Given the description of an element on the screen output the (x, y) to click on. 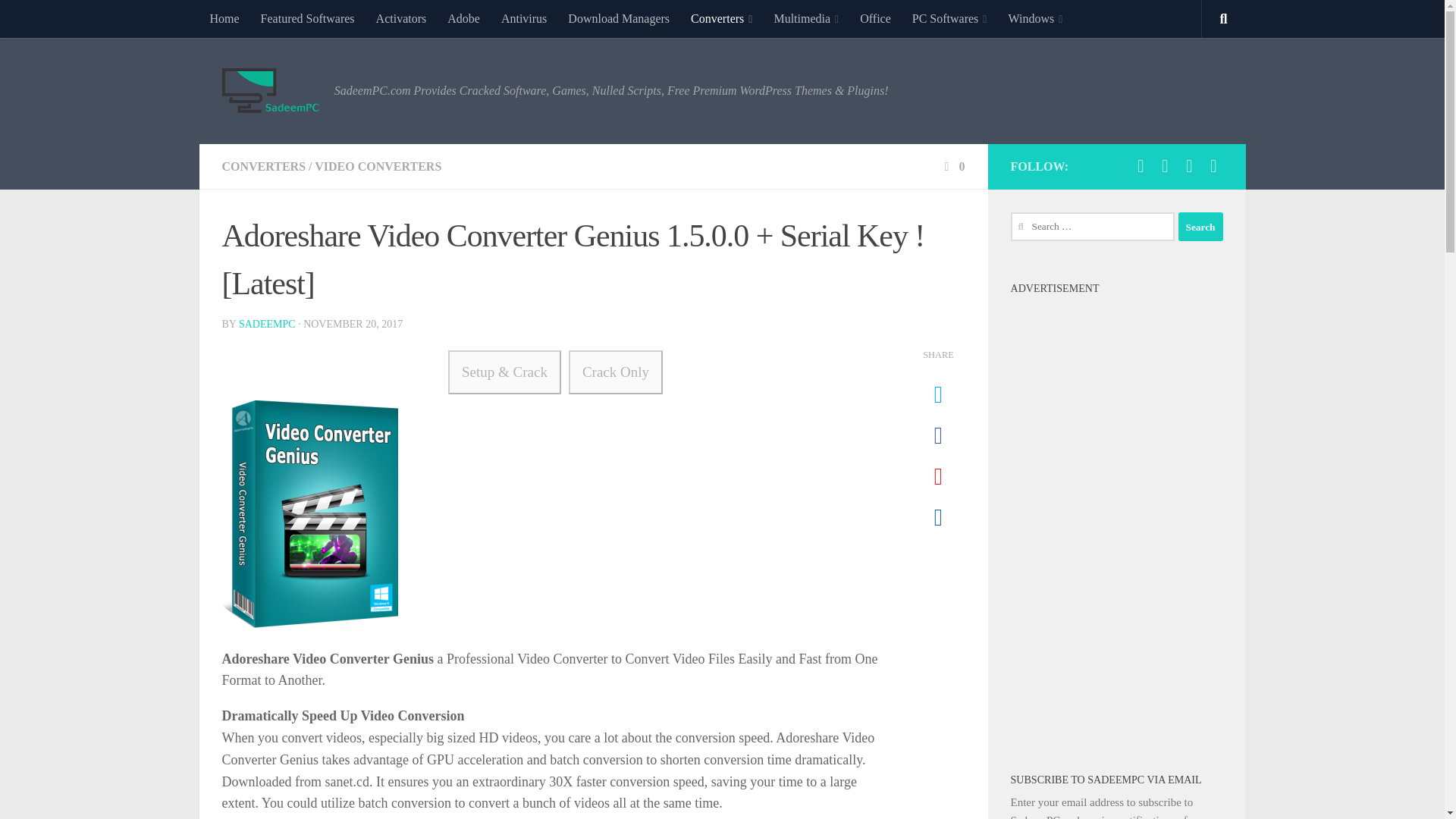
Skip to content (59, 20)
Search (1200, 226)
Posts by SadeemPC (266, 324)
Search (1200, 226)
